Given the description of an element on the screen output the (x, y) to click on. 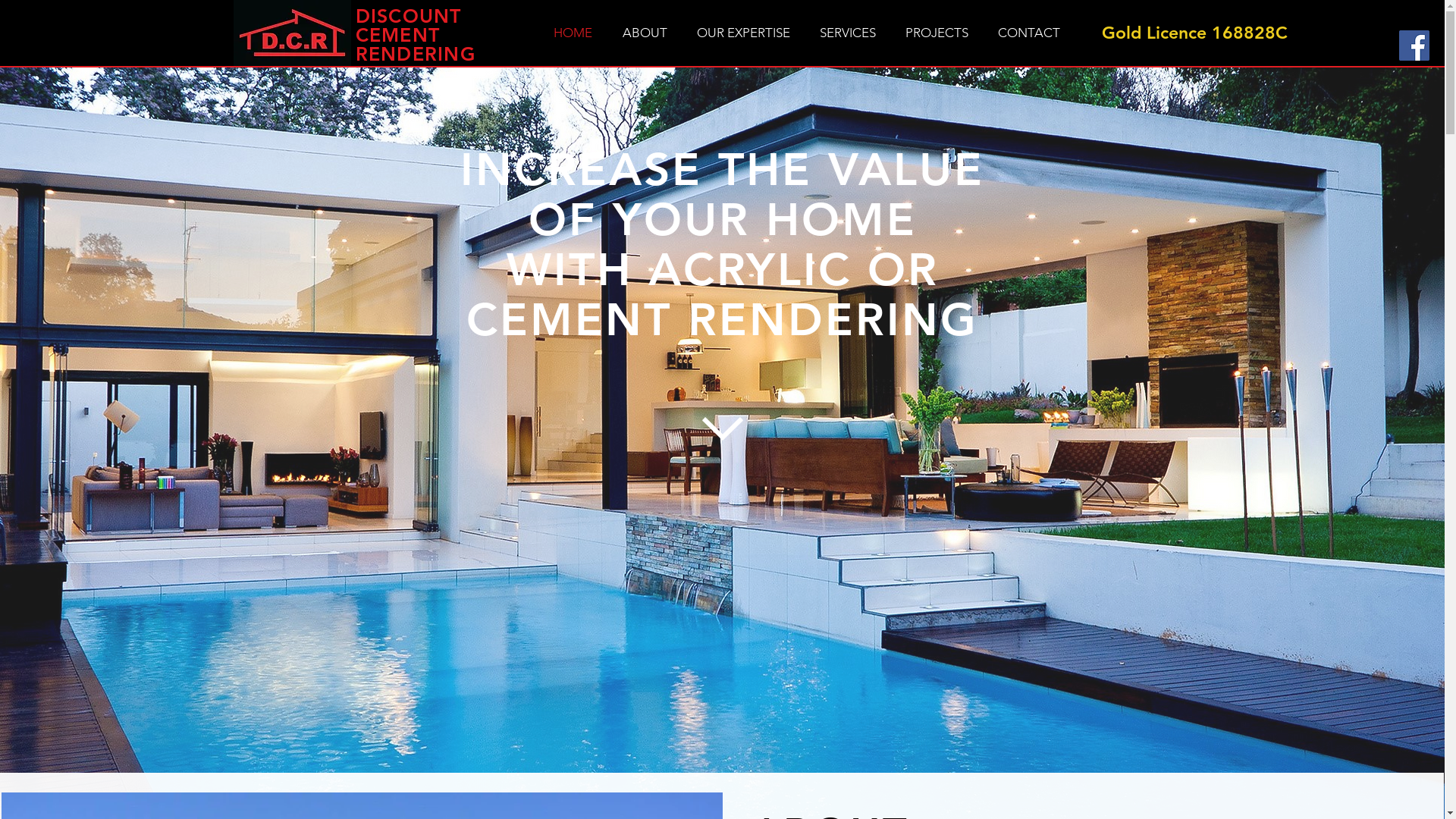
HOME Element type: text (572, 32)
CONTACT Element type: text (1028, 32)
DISCOUNT Element type: text (407, 15)
SERVICES Element type: text (848, 32)
OUR EXPERTISE Element type: text (743, 32)
ABOUT Element type: text (643, 32)
PROJECTS Element type: text (936, 32)
